Given the description of an element on the screen output the (x, y) to click on. 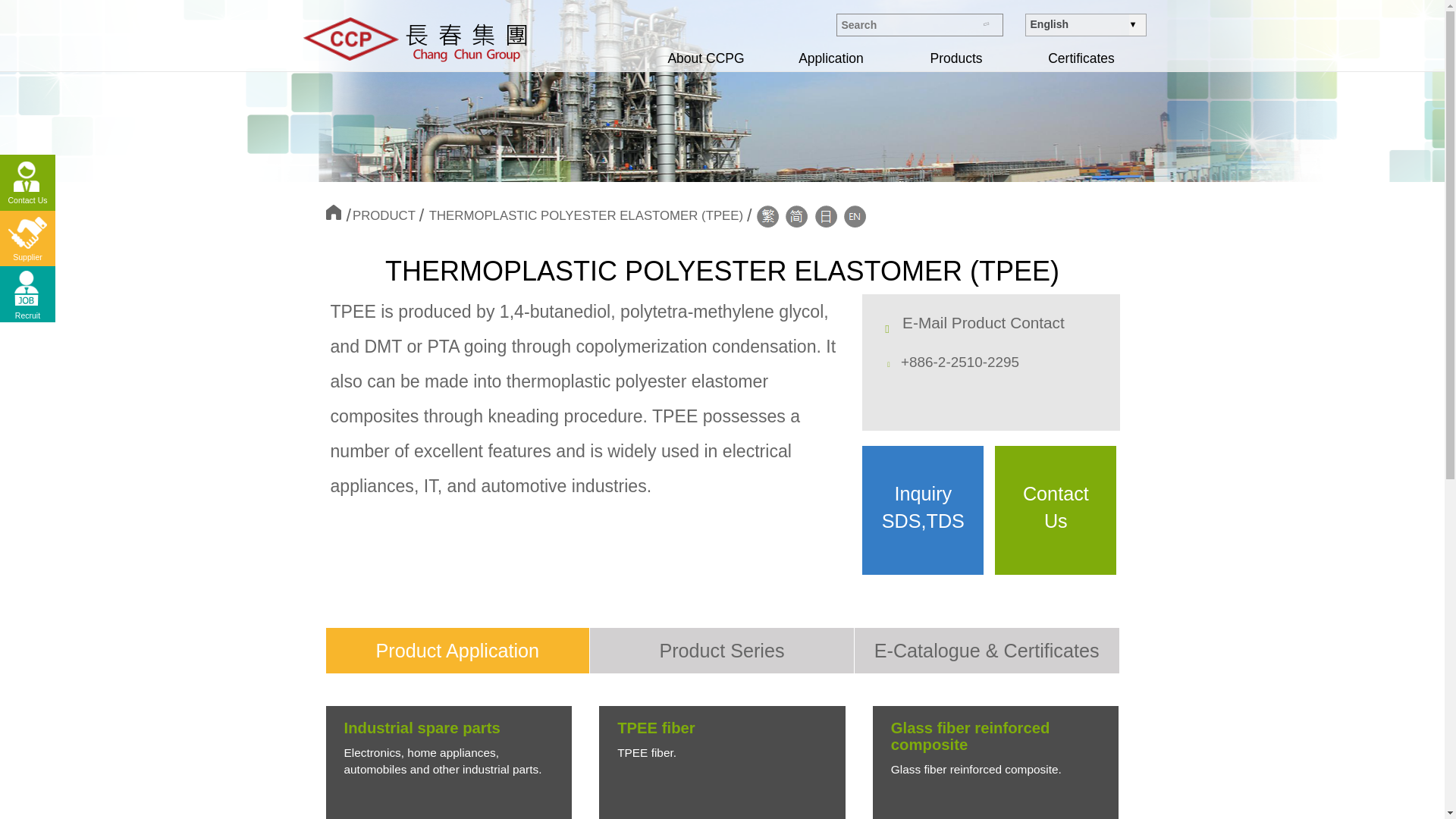
Products (955, 58)
Application (830, 58)
About CCPG (705, 58)
